Given the description of an element on the screen output the (x, y) to click on. 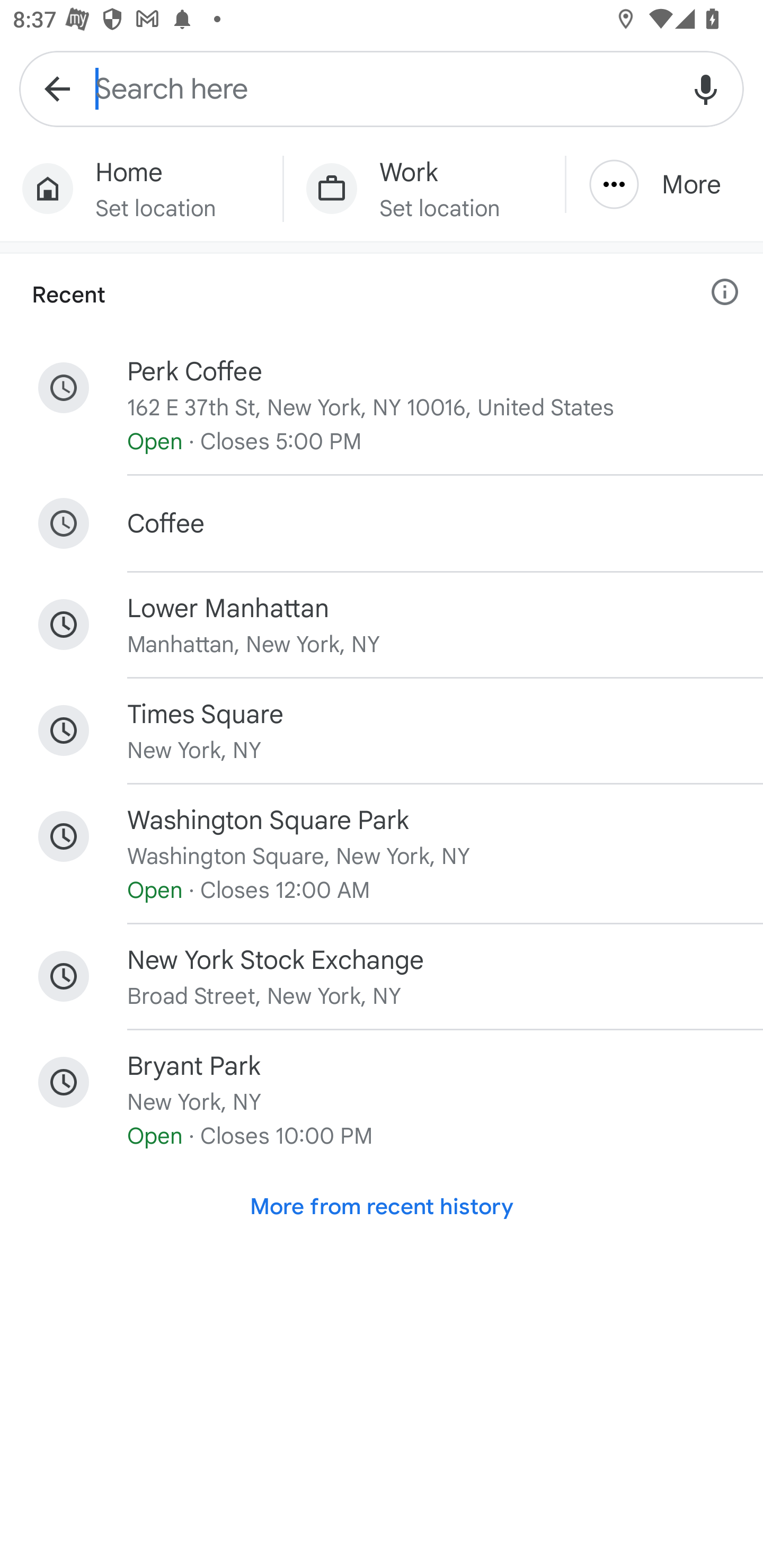
Navigate up (57, 88)
Search here (381, 88)
Voice search (705, 88)
Home Set location (141, 188)
Work Set location (423, 188)
More (664, 184)
Coffee (381, 522)
Lower Manhattan Manhattan, New York, NY (381, 624)
Times Square New York, NY (381, 730)
New York Stock Exchange Broad Street, New York, NY (381, 976)
Bryant Park New York, NY Open · Closes 10:00 PM (381, 1099)
More from recent history (381, 1206)
